Given the description of an element on the screen output the (x, y) to click on. 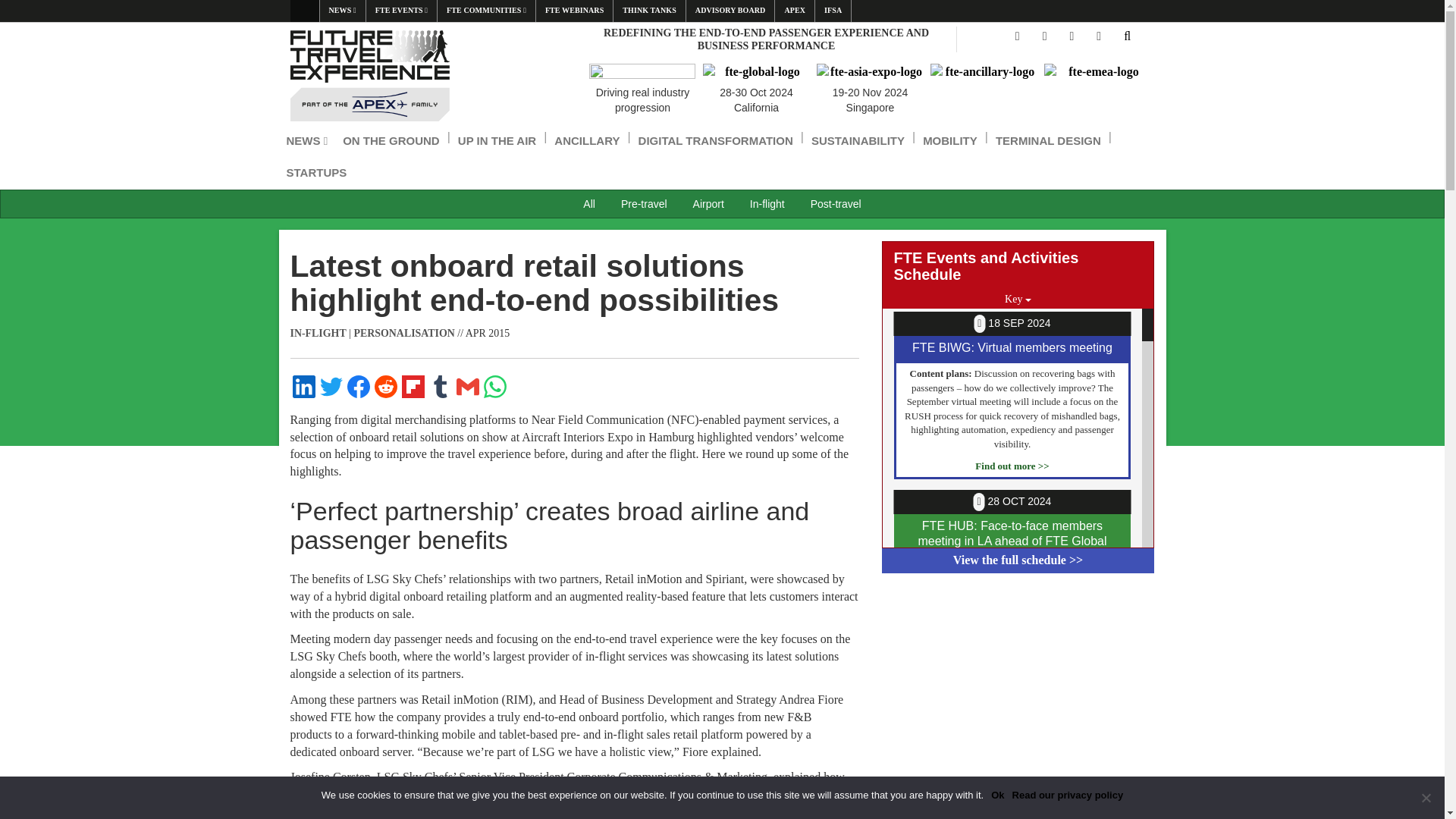
IFSA (832, 11)
FTE WEBINARS (573, 11)
THINK TANKS (648, 11)
APEX (793, 11)
ADVISORY BOARD (729, 11)
FTE COMMUNITIES (486, 11)
NEWS (342, 11)
FTE EVENTS (401, 11)
3rd party ad content (1017, 685)
